Given the description of an element on the screen output the (x, y) to click on. 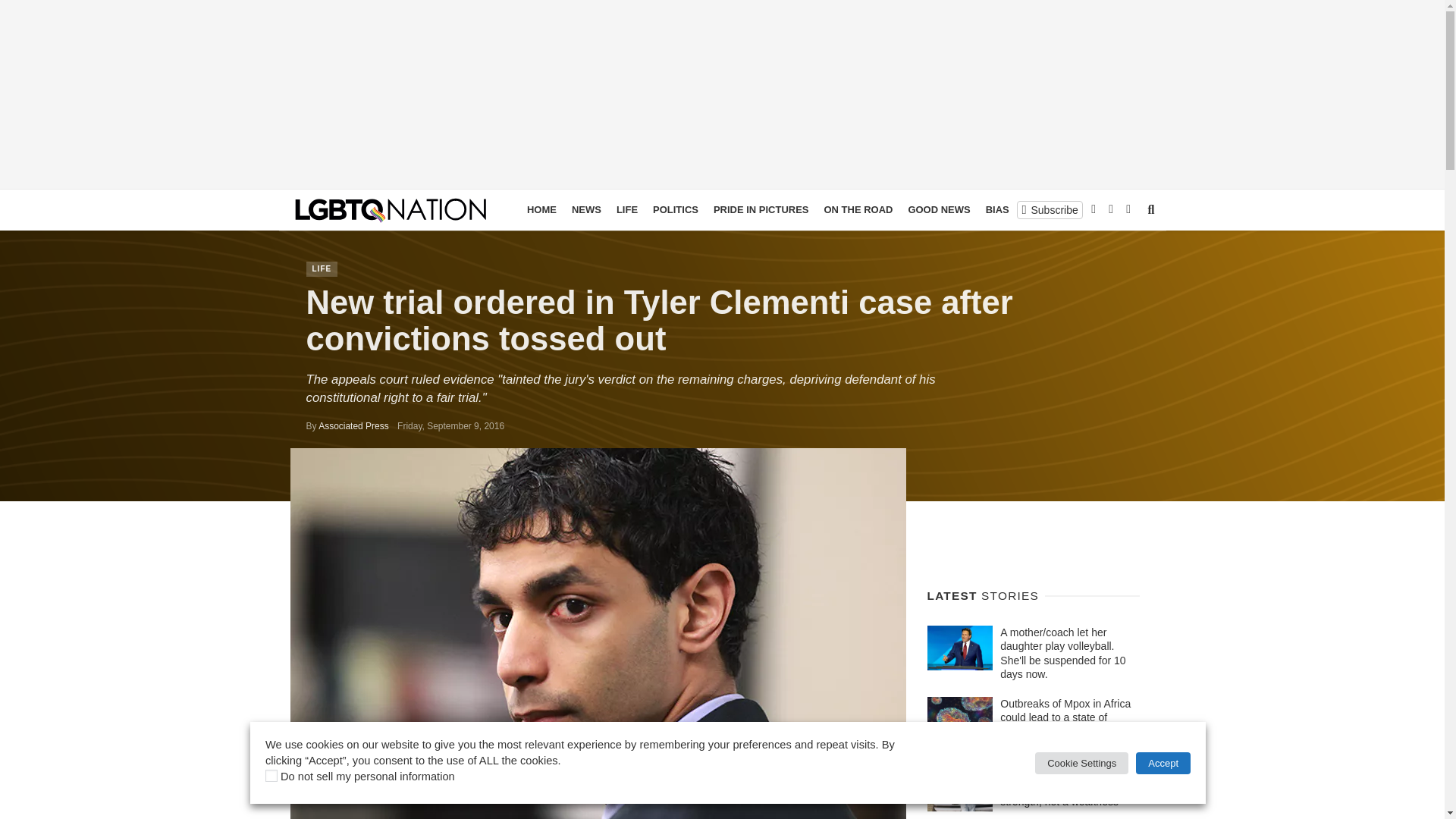
PRIDE IN PICTURES (761, 209)
LIFE (321, 268)
LIFE (626, 209)
on (271, 775)
COMMENTARY (1097, 209)
Friday, September 9, 2016 pm30 16:16:41 (450, 425)
NEWS (586, 209)
HOME (541, 209)
GOOD NEWS (937, 209)
